Given the description of an element on the screen output the (x, y) to click on. 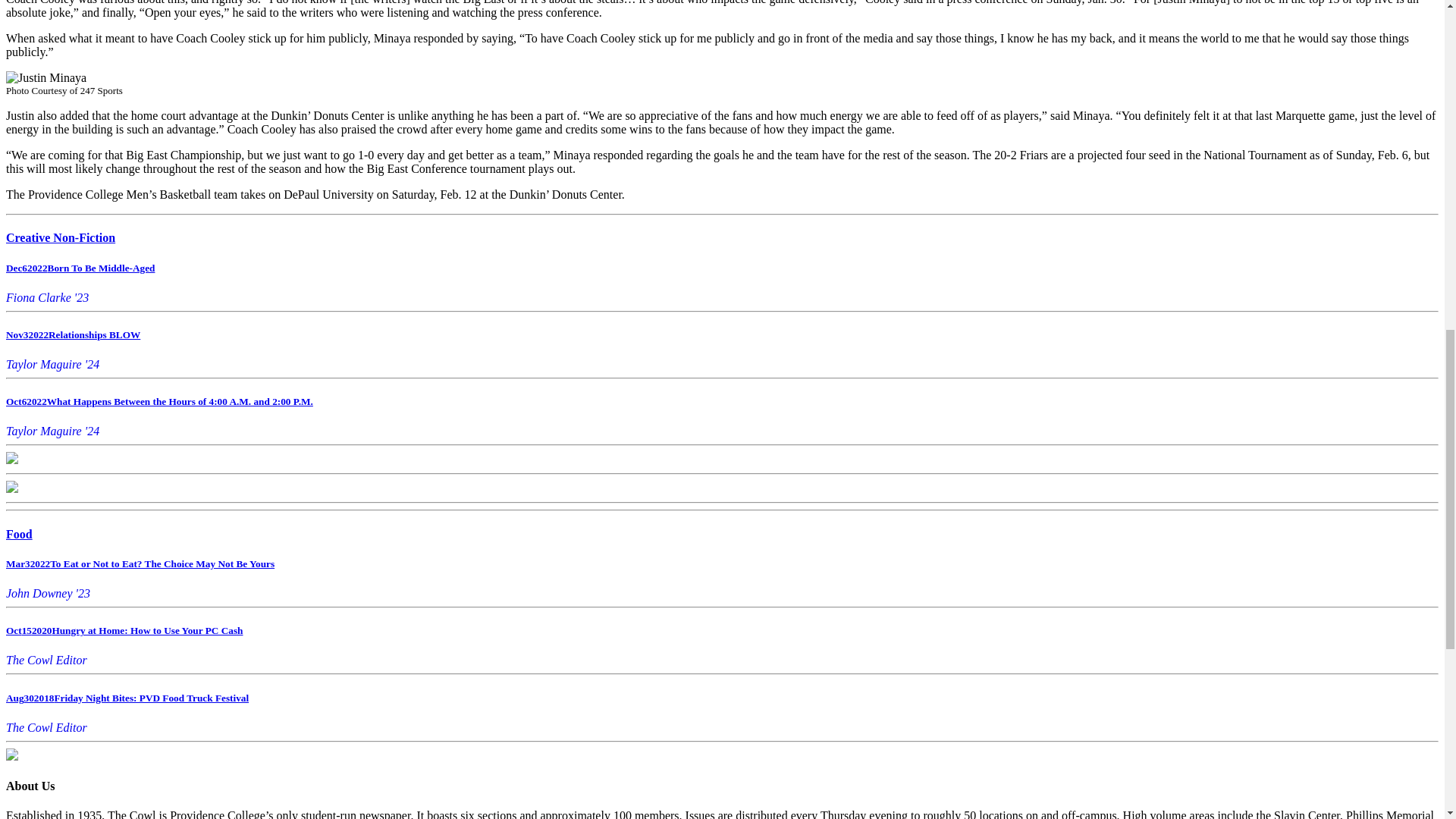
Creative Non-Fiction (60, 237)
Food (18, 533)
